Given the description of an element on the screen output the (x, y) to click on. 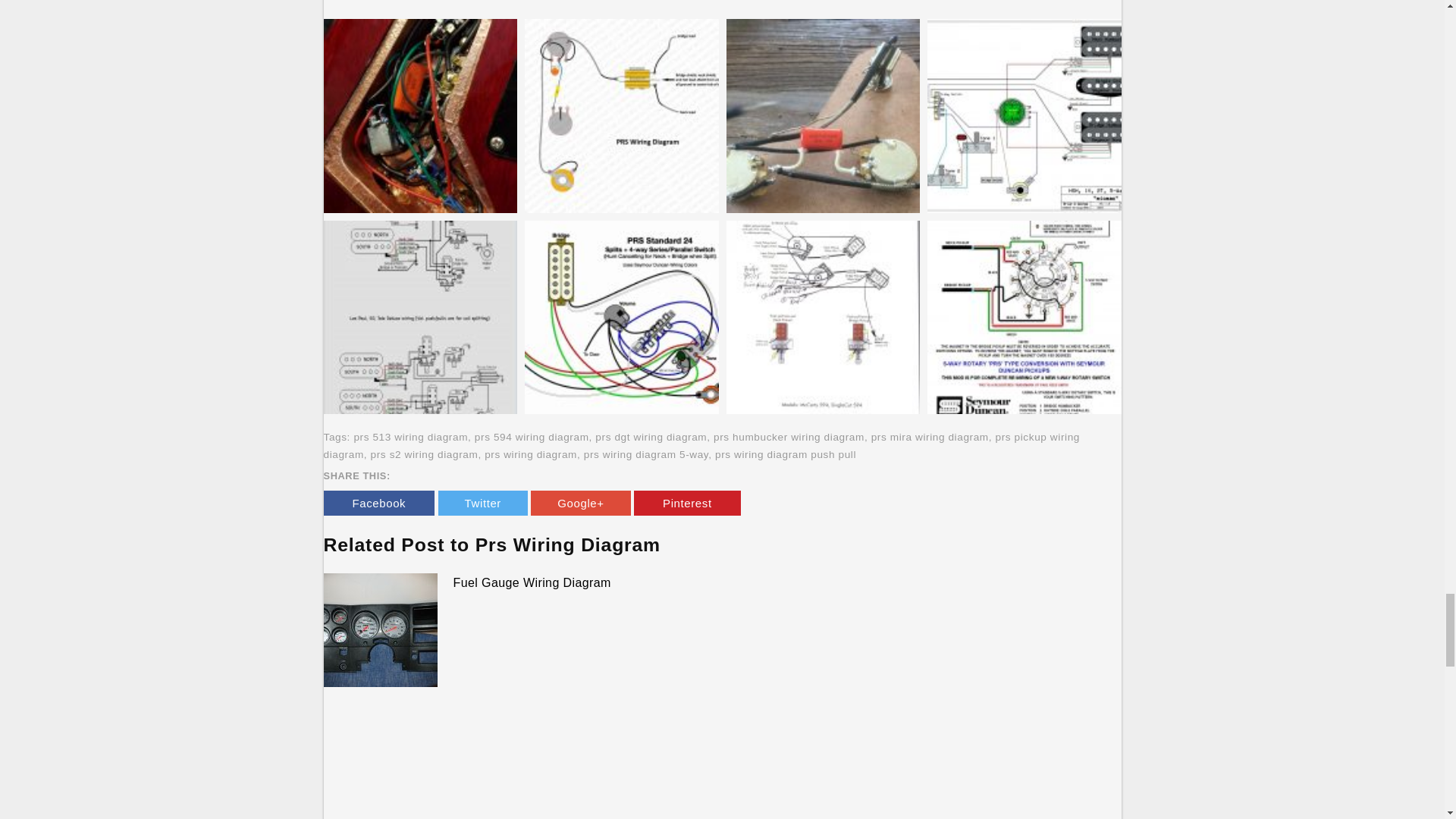
prs wiring diagram push pull (785, 454)
prs pickup wiring diagram (700, 445)
Fuel Gauge Wiring Diagram (531, 582)
prs wiring diagram (530, 454)
prs s2 wiring diagram (425, 454)
prs 594 wiring diagram (531, 437)
Pinterest (687, 502)
prs mira wiring diagram (929, 437)
prs dgt wiring diagram (650, 437)
prs wiring diagram 5-way (645, 454)
